Given the description of an element on the screen output the (x, y) to click on. 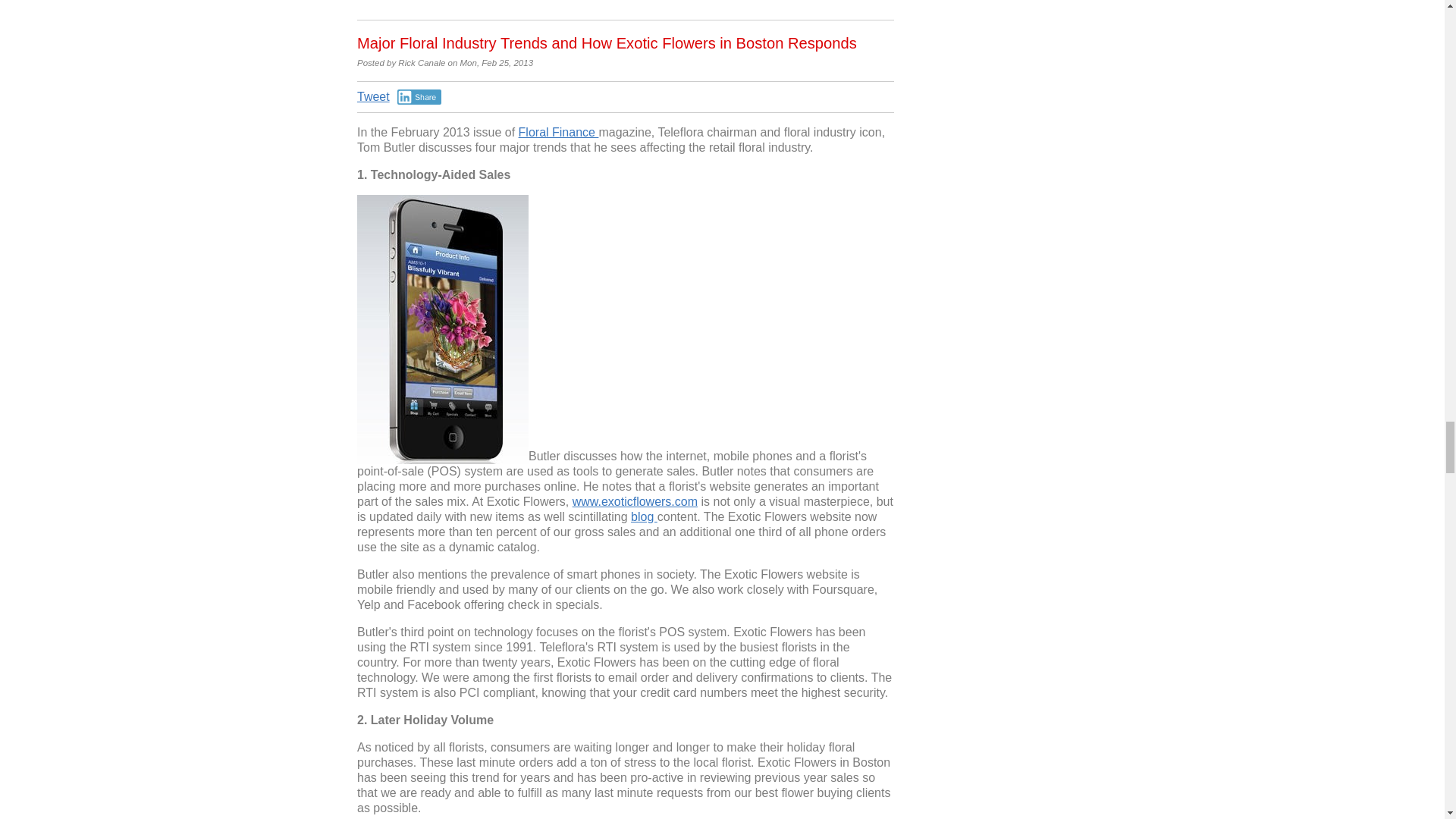
Floral Finance   (558, 132)
www.exoticflowers.com (634, 501)
blog   (644, 516)
